Given the description of an element on the screen output the (x, y) to click on. 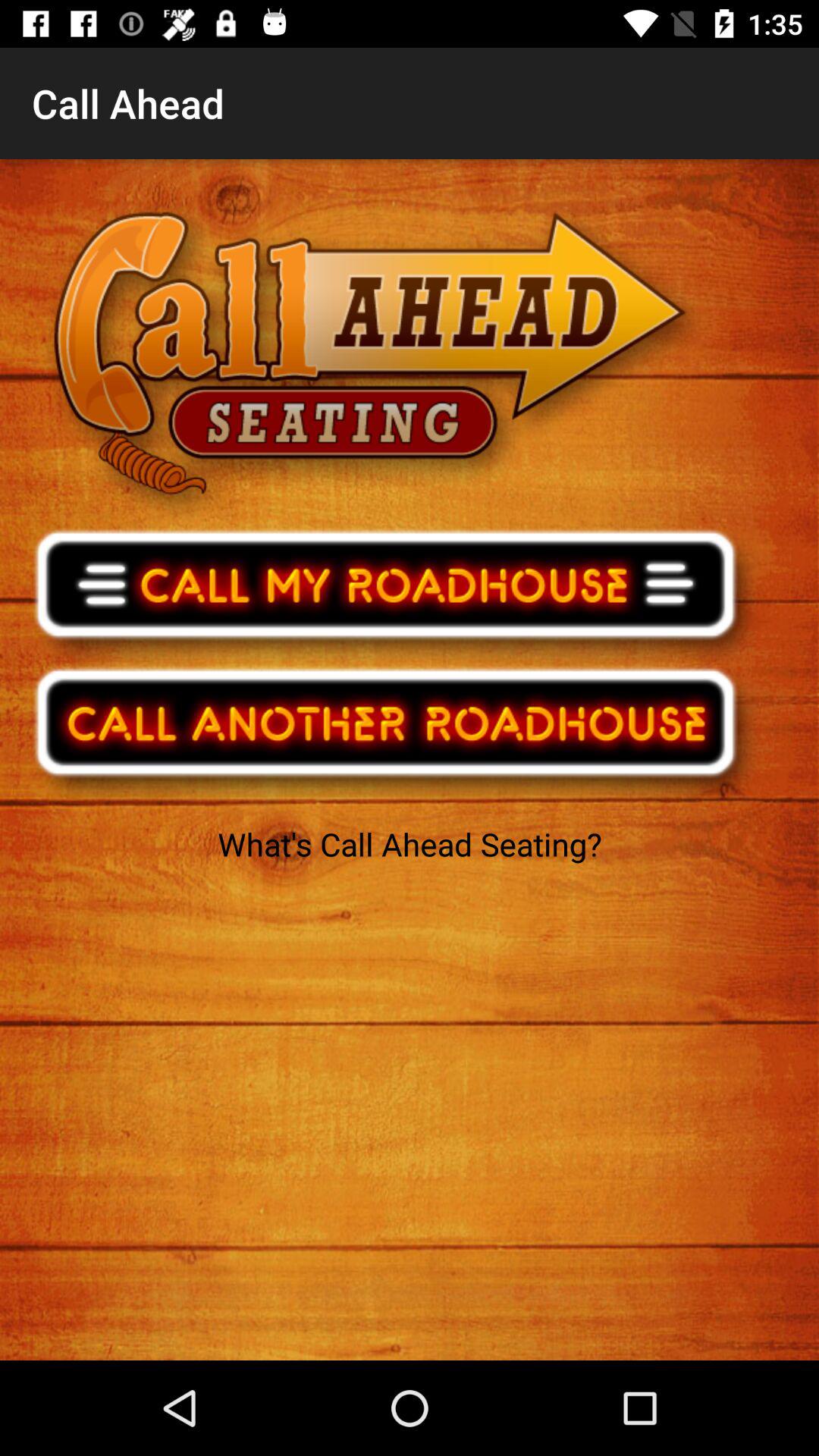
alternative option (395, 732)
